Given the description of an element on the screen output the (x, y) to click on. 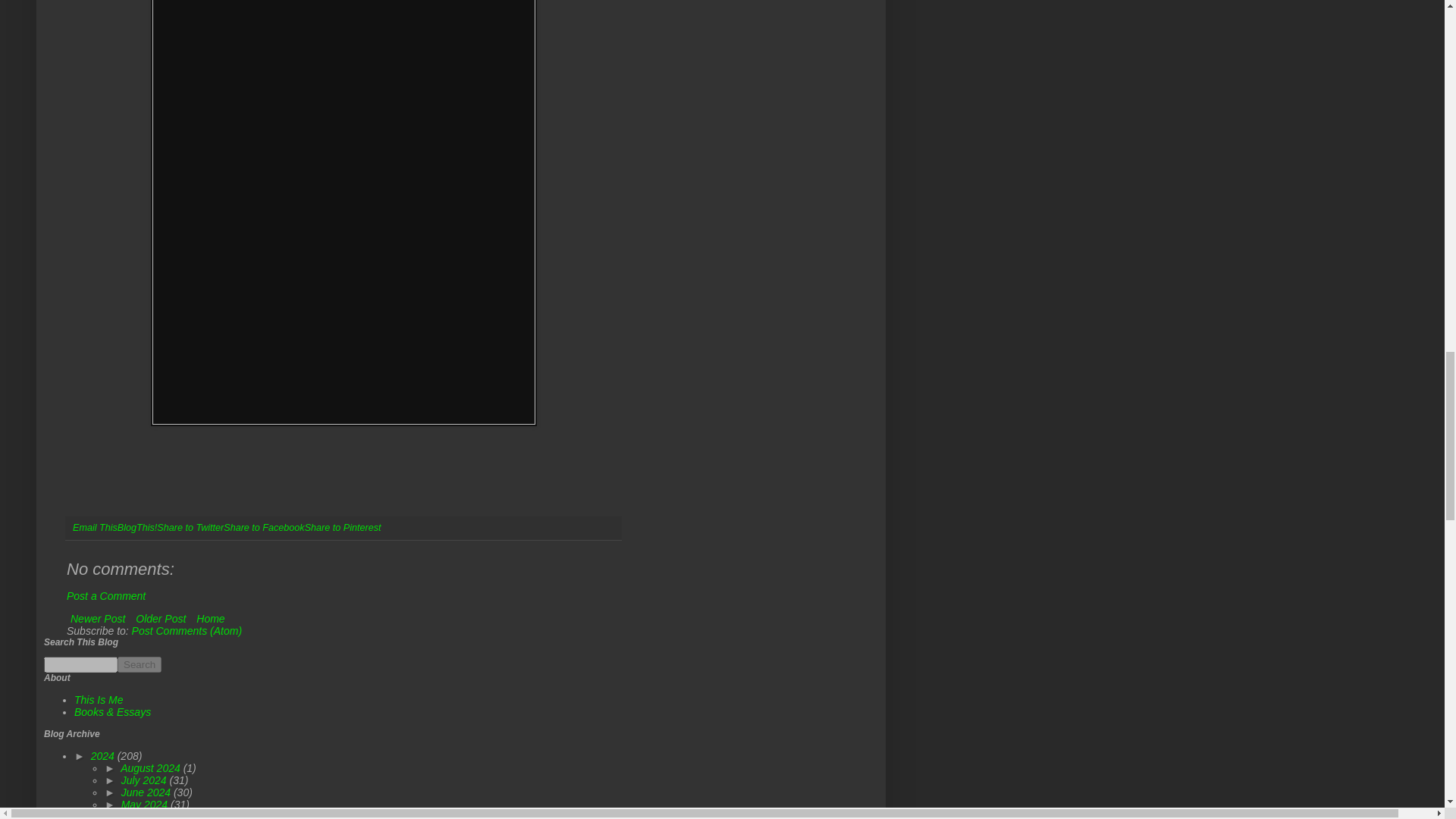
Email This (94, 527)
Newer Post (97, 618)
Search (139, 664)
Older Post (160, 618)
Older Post (160, 618)
August 2024 (151, 767)
Share to Pinterest (342, 527)
Home (210, 618)
Share to Pinterest (342, 527)
April 2024 (145, 814)
search (139, 664)
2024 (103, 756)
search (80, 664)
Share to Facebook (264, 527)
Search (139, 664)
